Given the description of an element on the screen output the (x, y) to click on. 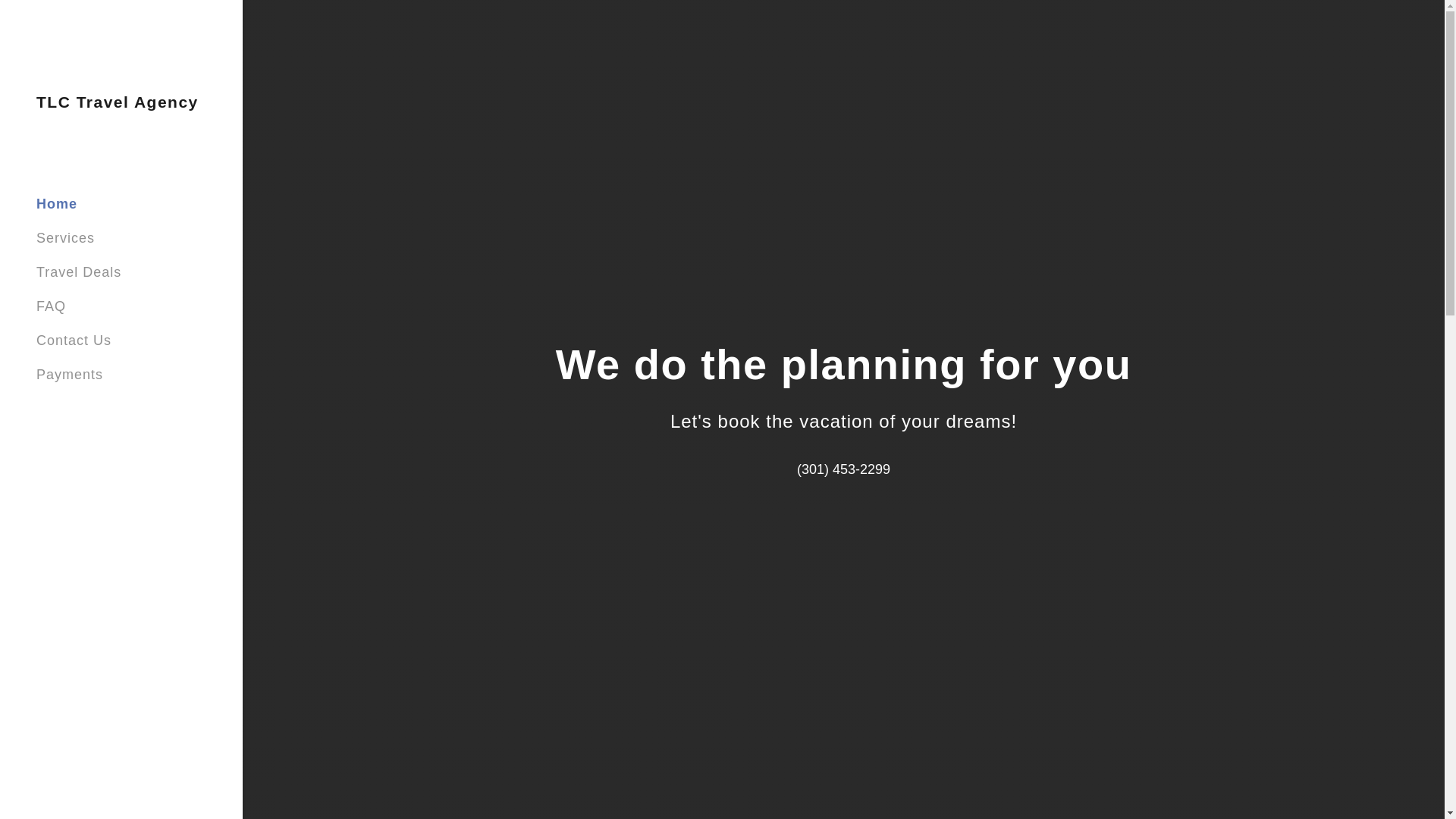
FAQ (50, 305)
Contact Us (74, 340)
Payments (69, 374)
Services (65, 237)
Travel Deals (78, 272)
TLC Travel Agency (117, 102)
Home (56, 203)
TLC Travel Agency (117, 102)
